Given the description of an element on the screen output the (x, y) to click on. 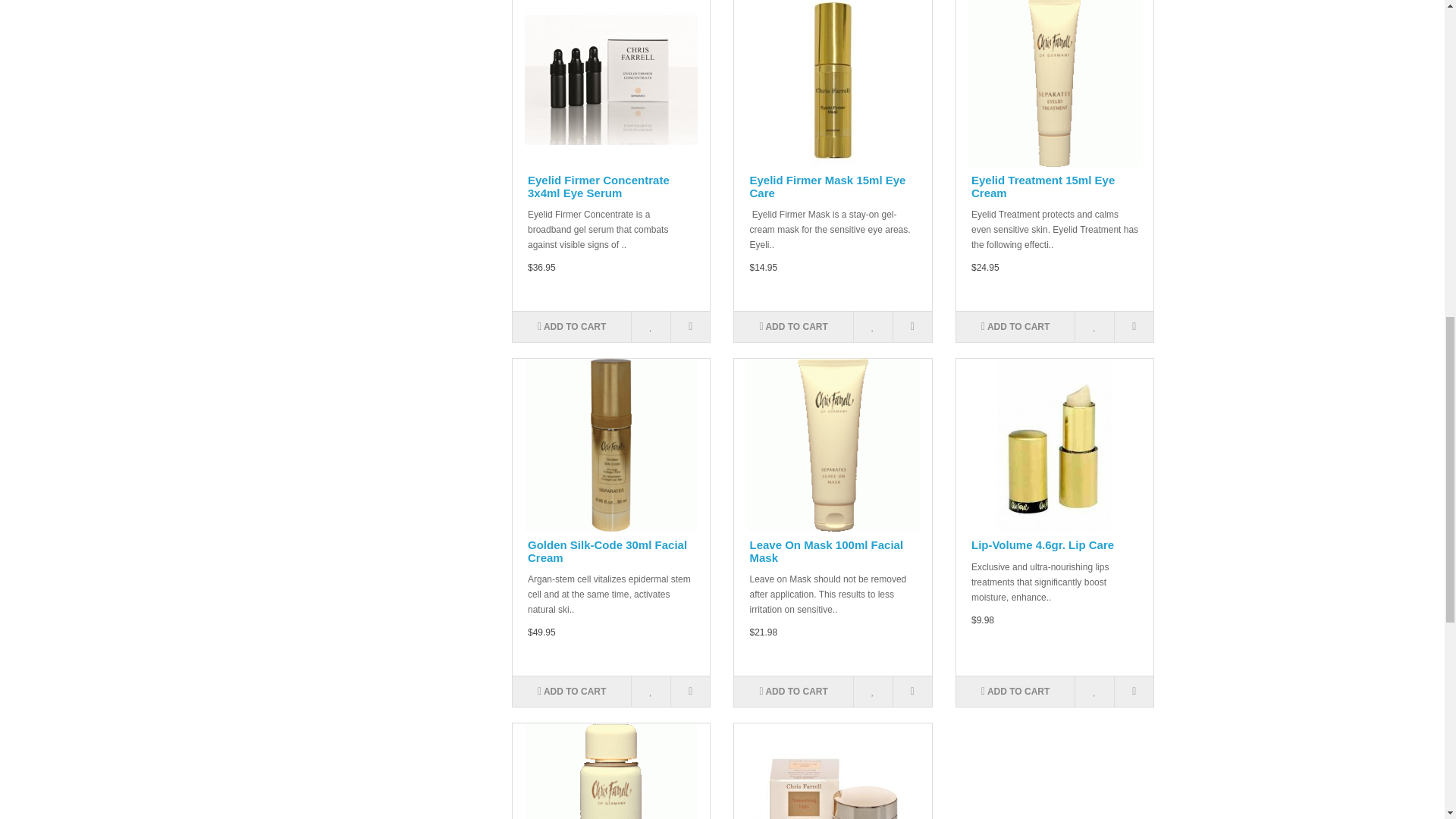
Eyelid Firmer Mask 15ml Eye Care  (833, 83)
Eyelid Treatment 15ml Eye Cream (1054, 83)
Golden Silk-Code 30ml Facial Cream  (610, 444)
Eyelid Firmer Concentrate 3x4ml Eye Serum (610, 83)
